Given the description of an element on the screen output the (x, y) to click on. 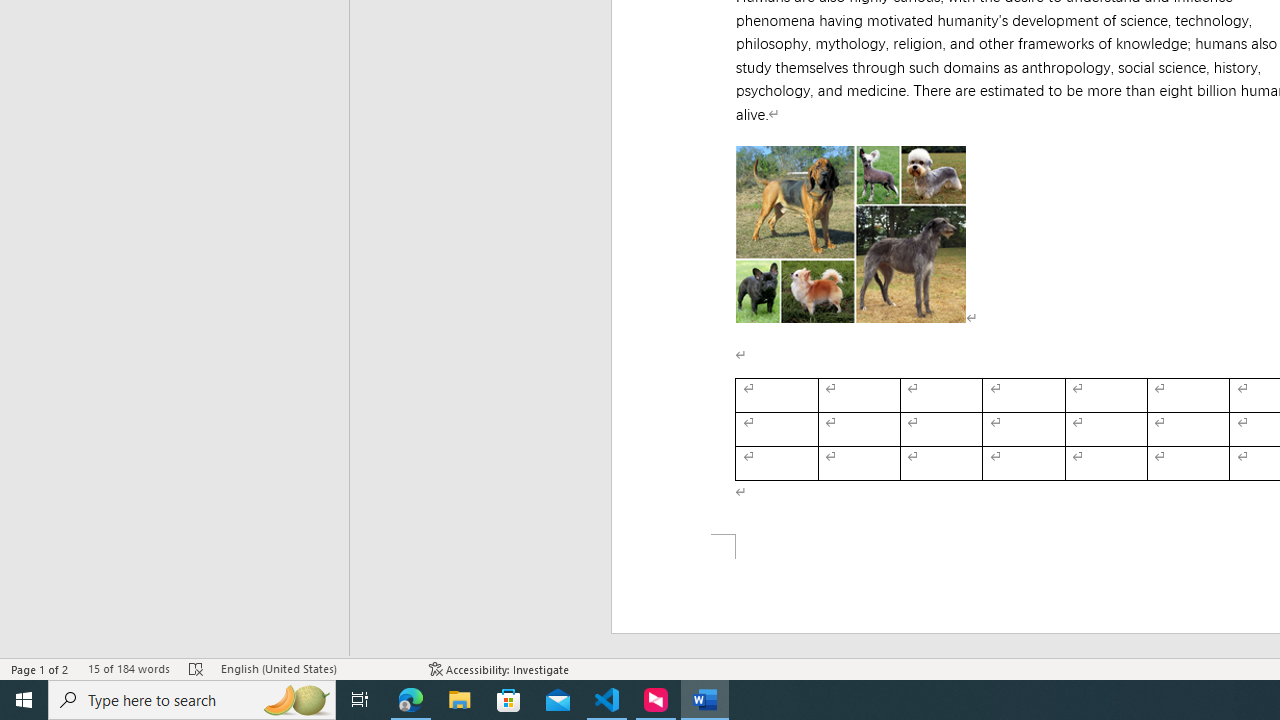
Language English (United States) (315, 668)
File Explorer (460, 699)
Page Number Page 1 of 2 (39, 668)
